Given the description of an element on the screen output the (x, y) to click on. 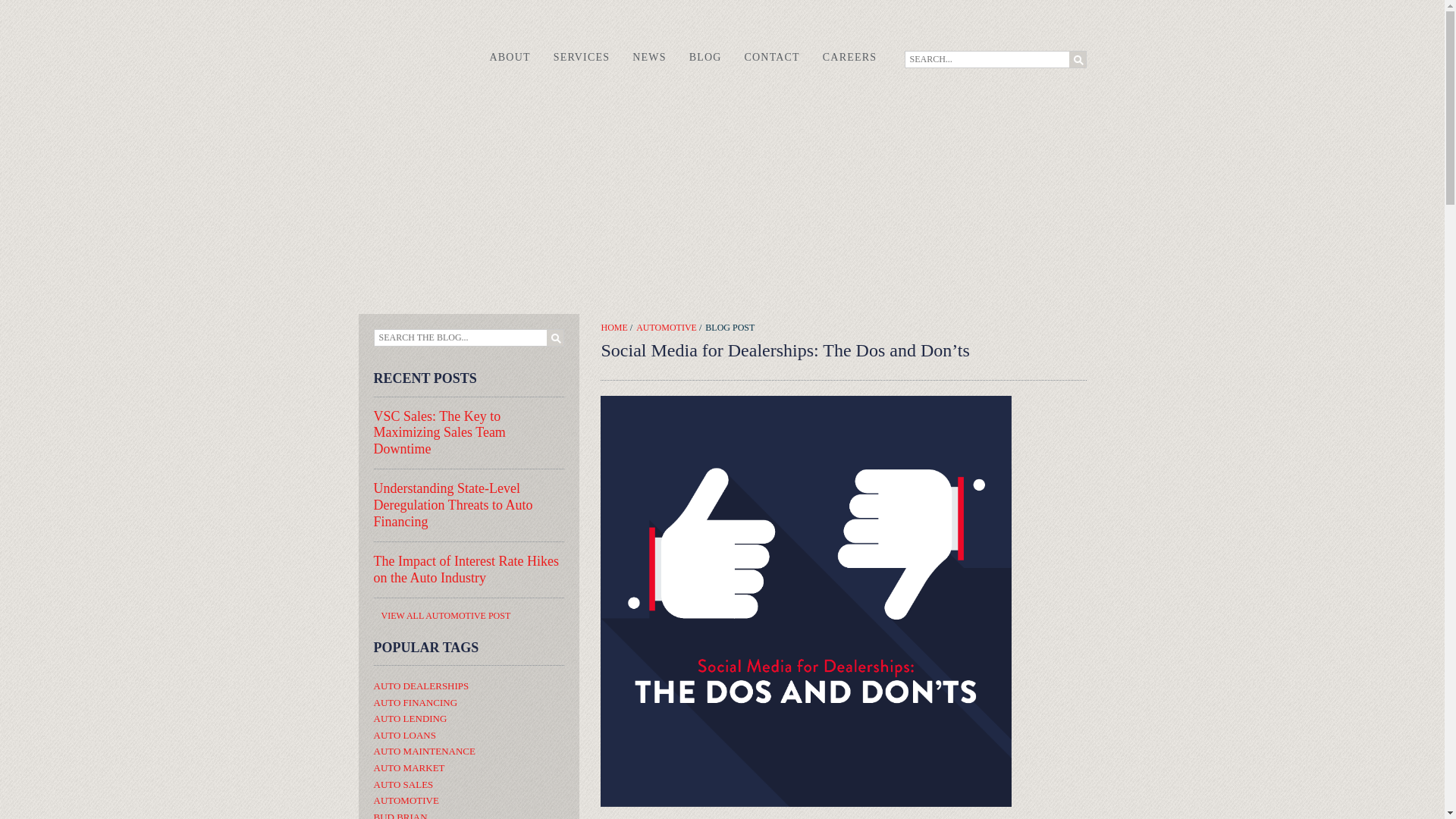
HOME (613, 327)
CAREERS (849, 56)
CONTACT (771, 56)
ABOUT (509, 56)
BLOG (705, 56)
NEWS (649, 56)
AUTOMOTIVE (666, 327)
BUDCO (406, 43)
SERVICES (581, 56)
